Given the description of an element on the screen output the (x, y) to click on. 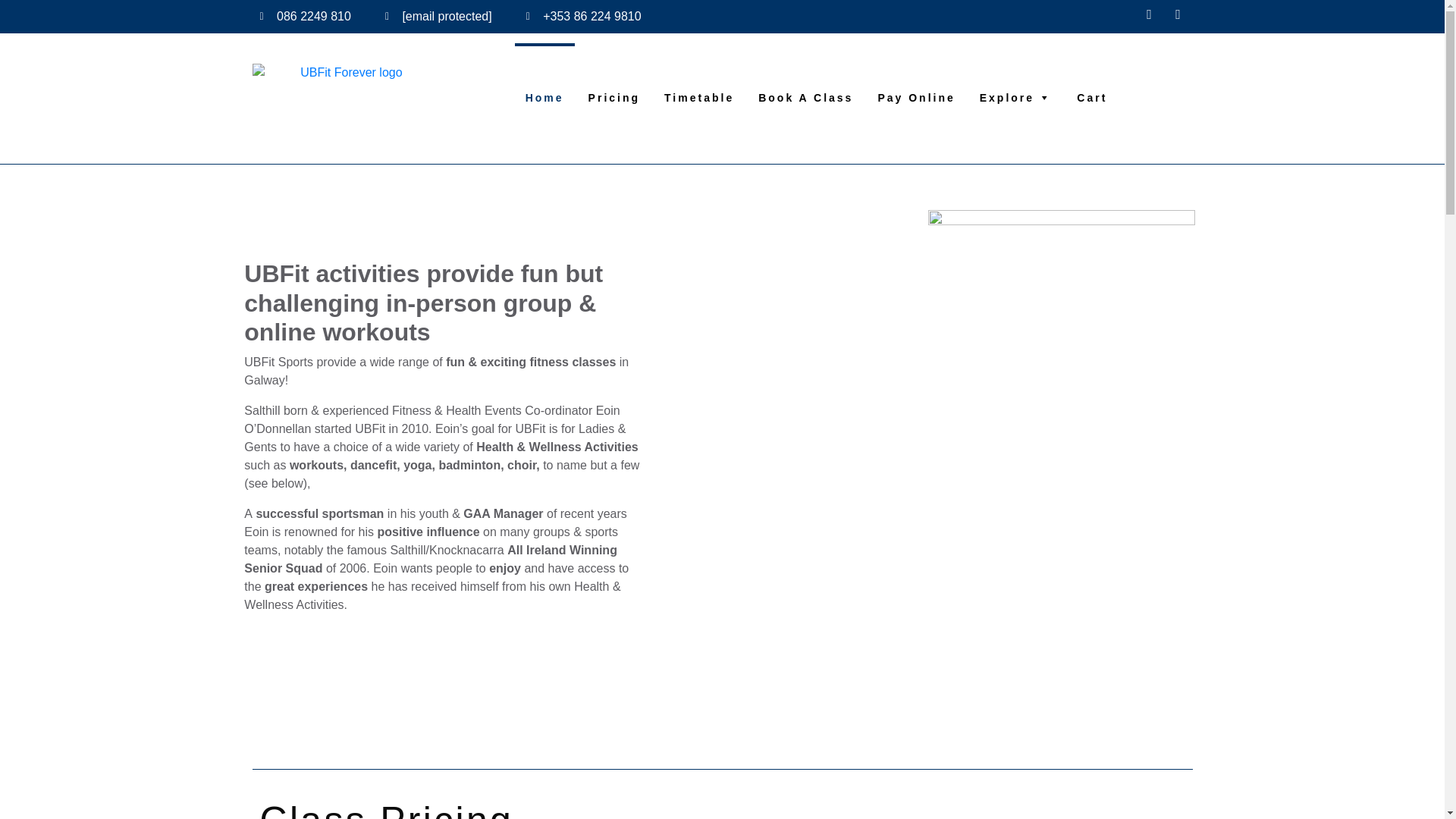
Pricing (614, 73)
086 2249 810 (304, 16)
Pay Online (915, 73)
Explore (1016, 73)
Home (545, 73)
Book A Class (805, 73)
Timetable (698, 73)
